Given the description of an element on the screen output the (x, y) to click on. 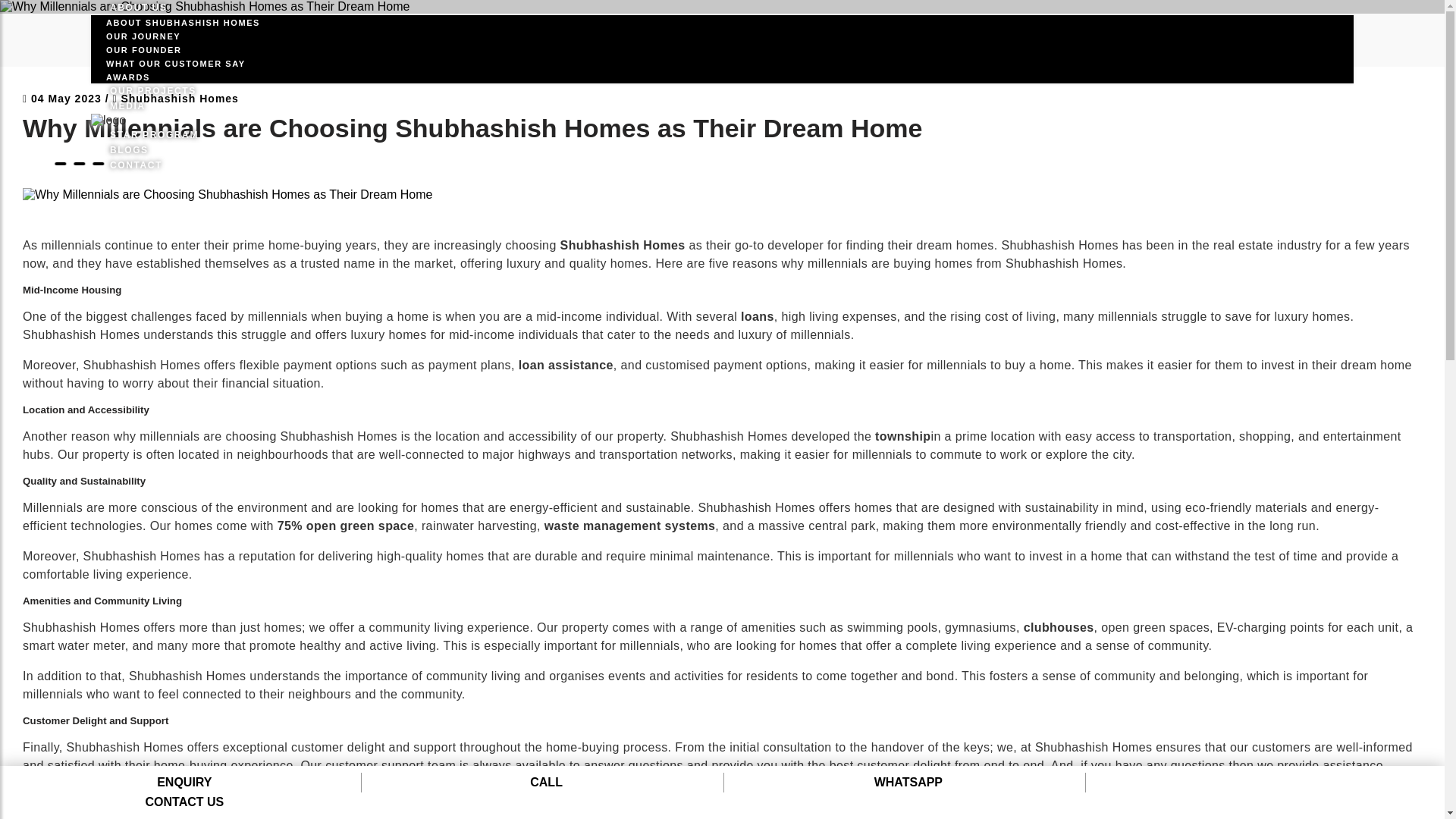
OUR JOURNEY (142, 35)
OUR PROJECTS (152, 87)
MEDIA (127, 102)
STAR PROGRAM (153, 131)
BLOGS (128, 146)
AWARDS (127, 76)
ABOUT US (138, 19)
OUR FOUNDER (143, 49)
WHAT OUR CUSTOMER SAY (175, 62)
ABOUT SHUBHASHISH HOMES (182, 22)
CONTACT (135, 161)
